Given the description of an element on the screen output the (x, y) to click on. 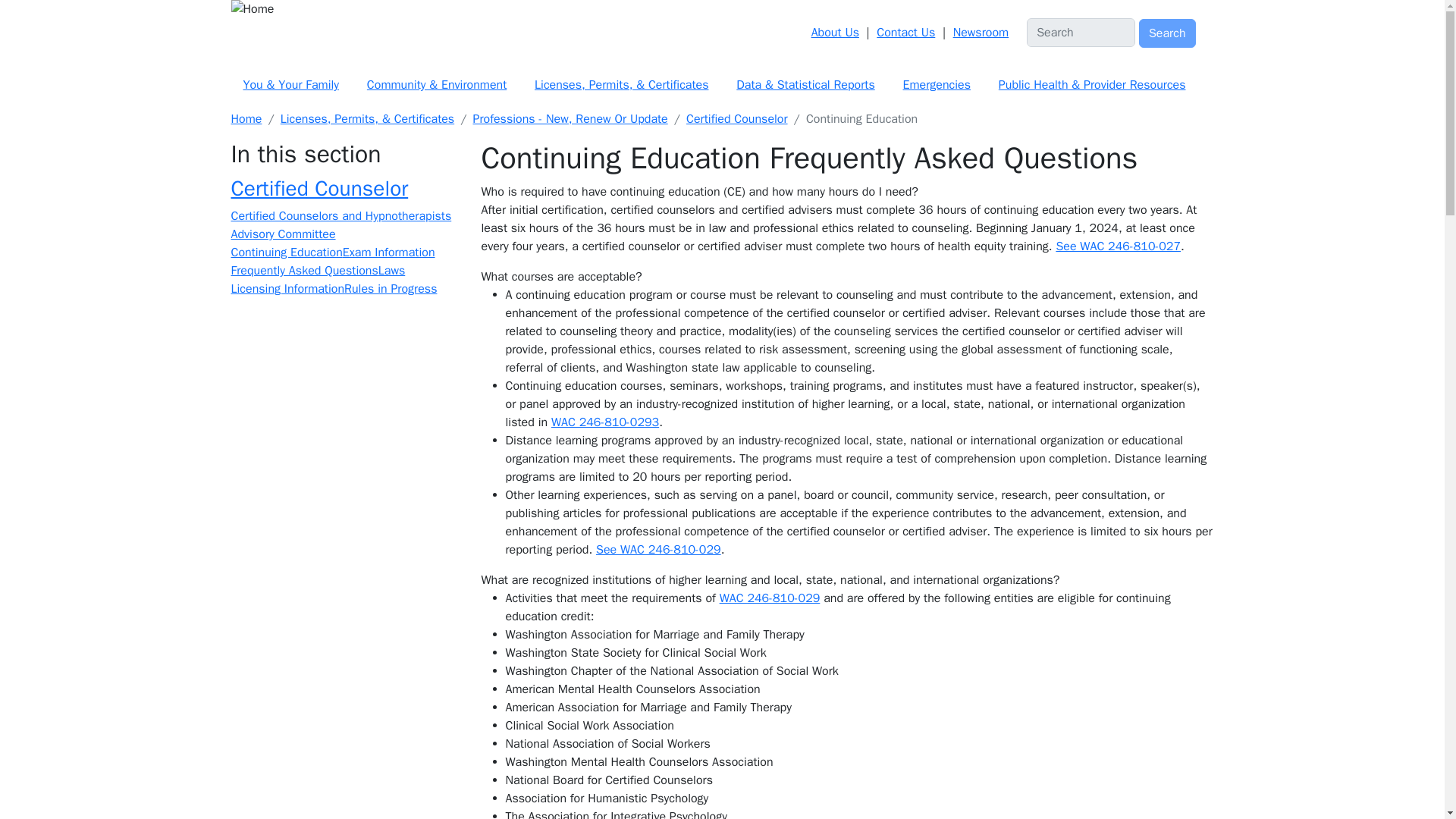
Contact Us (905, 32)
About Us (834, 32)
Newsroom (981, 32)
Search (1166, 32)
Enter the terms you wish to search for. (1080, 32)
Home (712, 9)
